Given the description of an element on the screen output the (x, y) to click on. 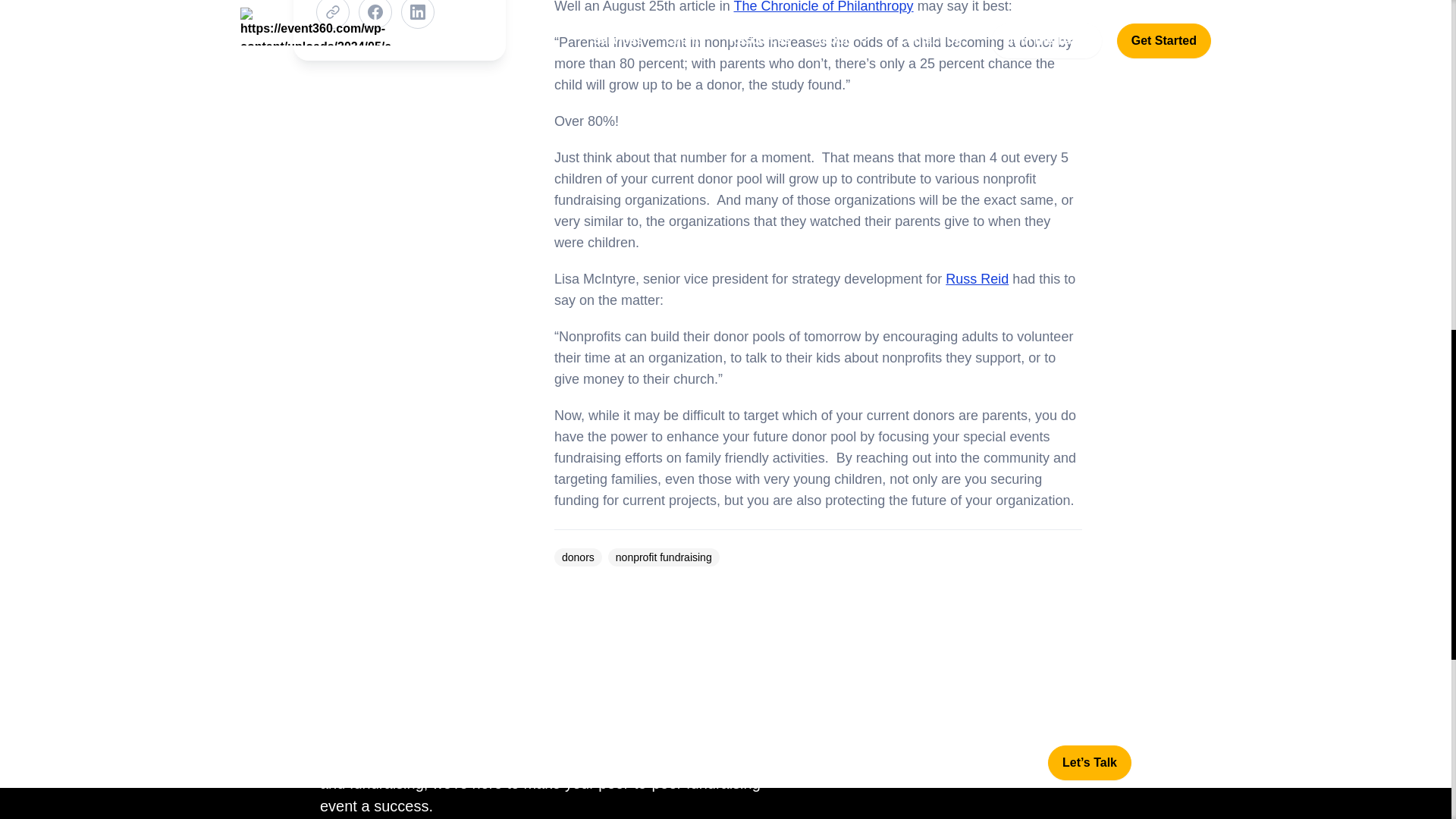
Russ Reid (976, 278)
donors (578, 557)
nonprofit fundraising (663, 557)
The Chronicle of Philanthropy (822, 6)
